Given the description of an element on the screen output the (x, y) to click on. 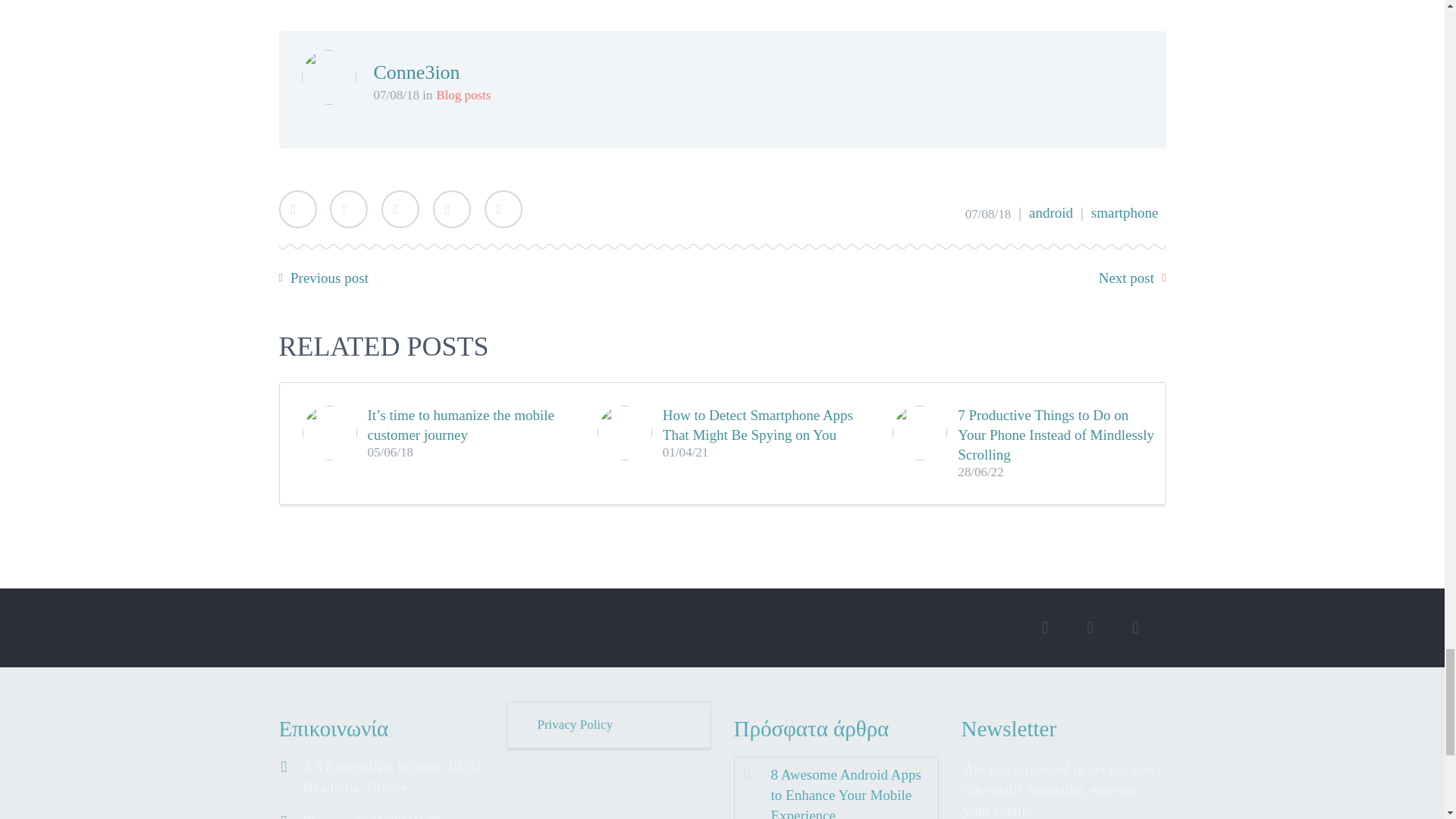
Blog posts (462, 94)
Google Plus (400, 209)
How to Detect Smartphone Apps That Might Be Spying on You (765, 425)
Previous post (328, 277)
android (1051, 212)
smartphone (1124, 212)
Facebook (349, 209)
Twitter (298, 209)
Google Plus (400, 209)
Privacy Policy (608, 724)
